Given the description of an element on the screen output the (x, y) to click on. 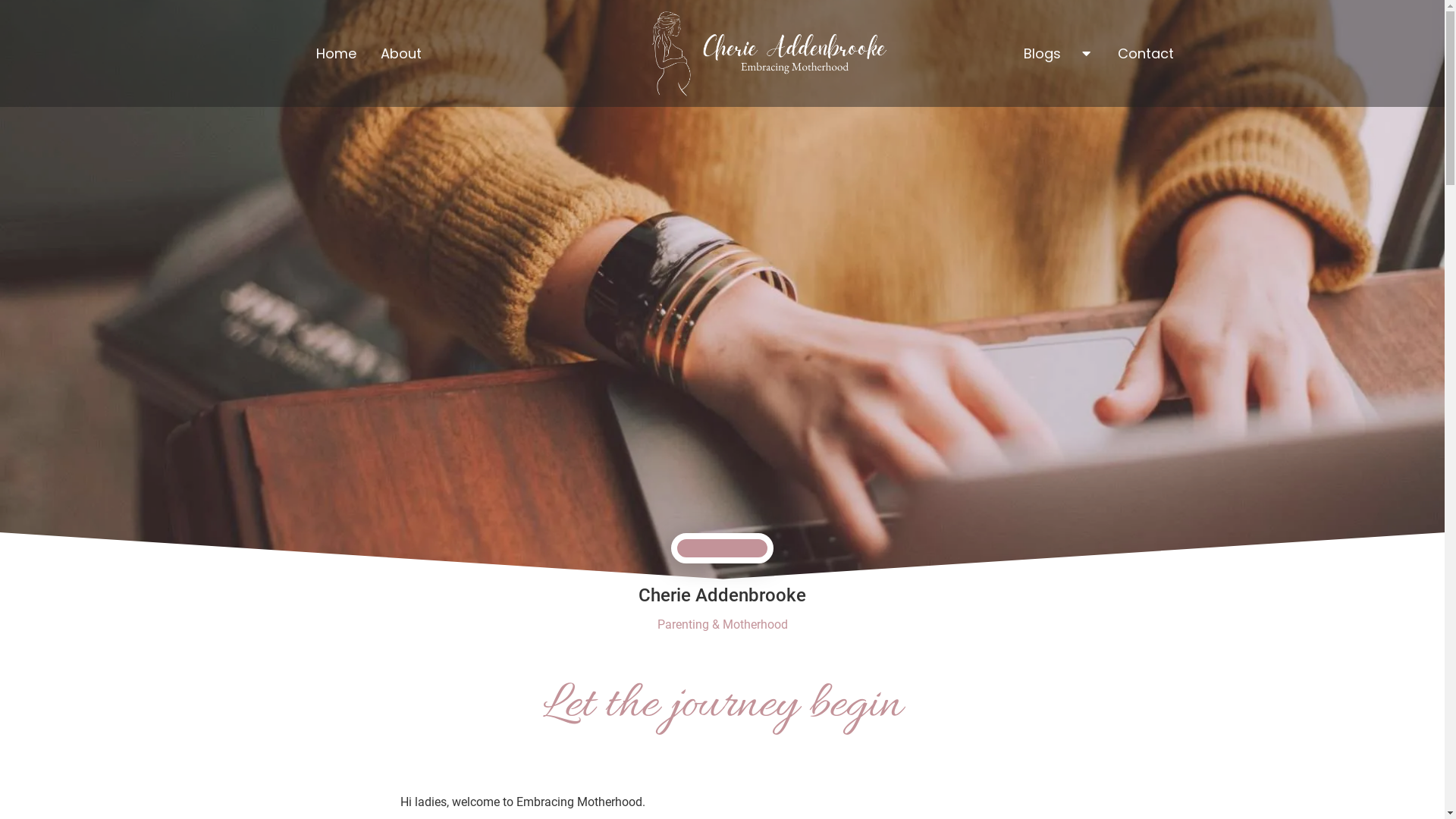
Home Element type: text (335, 52)
Blogs Element type: text (1041, 52)
About Element type: text (400, 52)
